Given the description of an element on the screen output the (x, y) to click on. 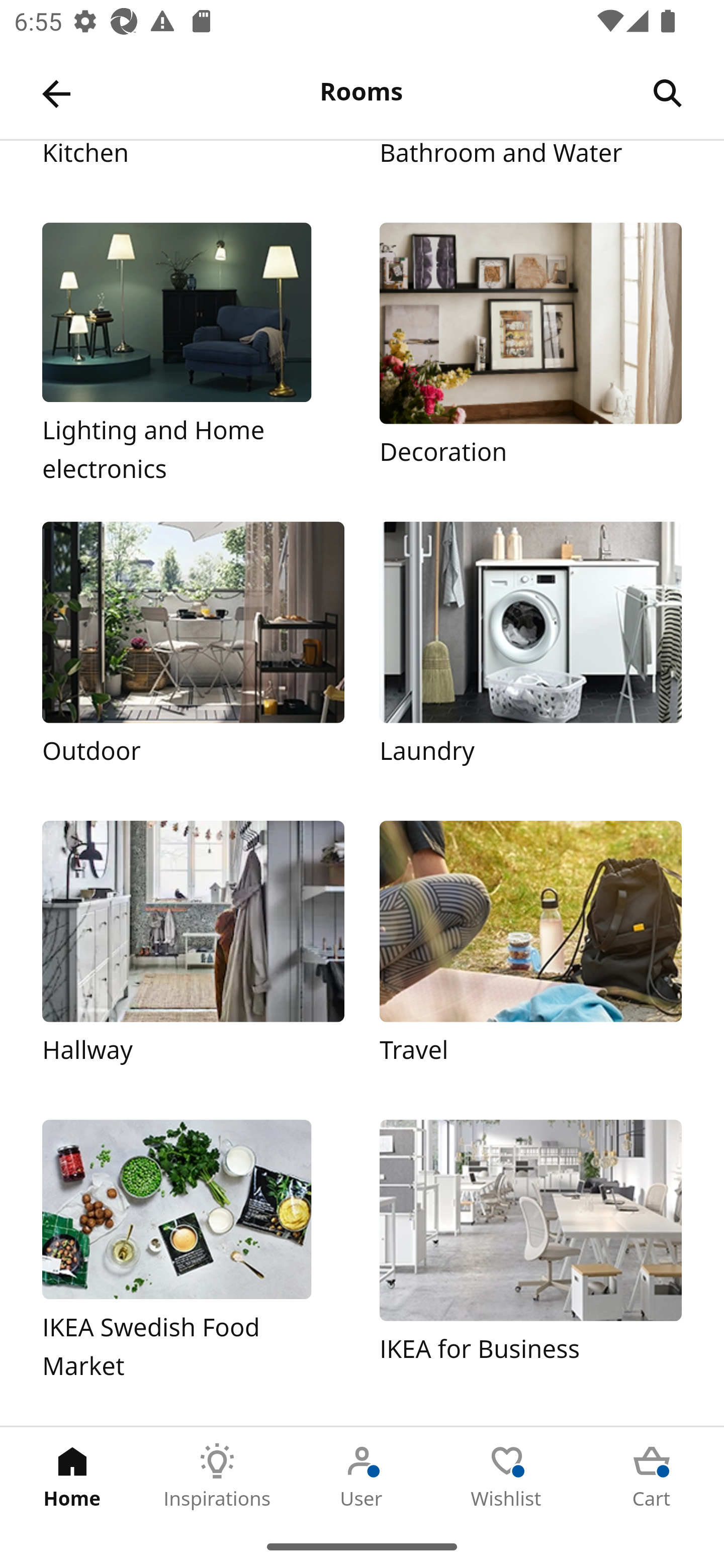
Lighting and Home electronics (192, 354)
Decoration (530, 354)
Outdoor (192, 653)
Laundry (530, 653)
Hallway (192, 952)
Travel (530, 952)
IKEA Swedish Food Market (192, 1250)
IKEA for Business (530, 1250)
Home
Tab 1 of 5 (72, 1476)
Inspirations
Tab 2 of 5 (216, 1476)
User
Tab 3 of 5 (361, 1476)
Wishlist
Tab 4 of 5 (506, 1476)
Cart
Tab 5 of 5 (651, 1476)
